Given the description of an element on the screen output the (x, y) to click on. 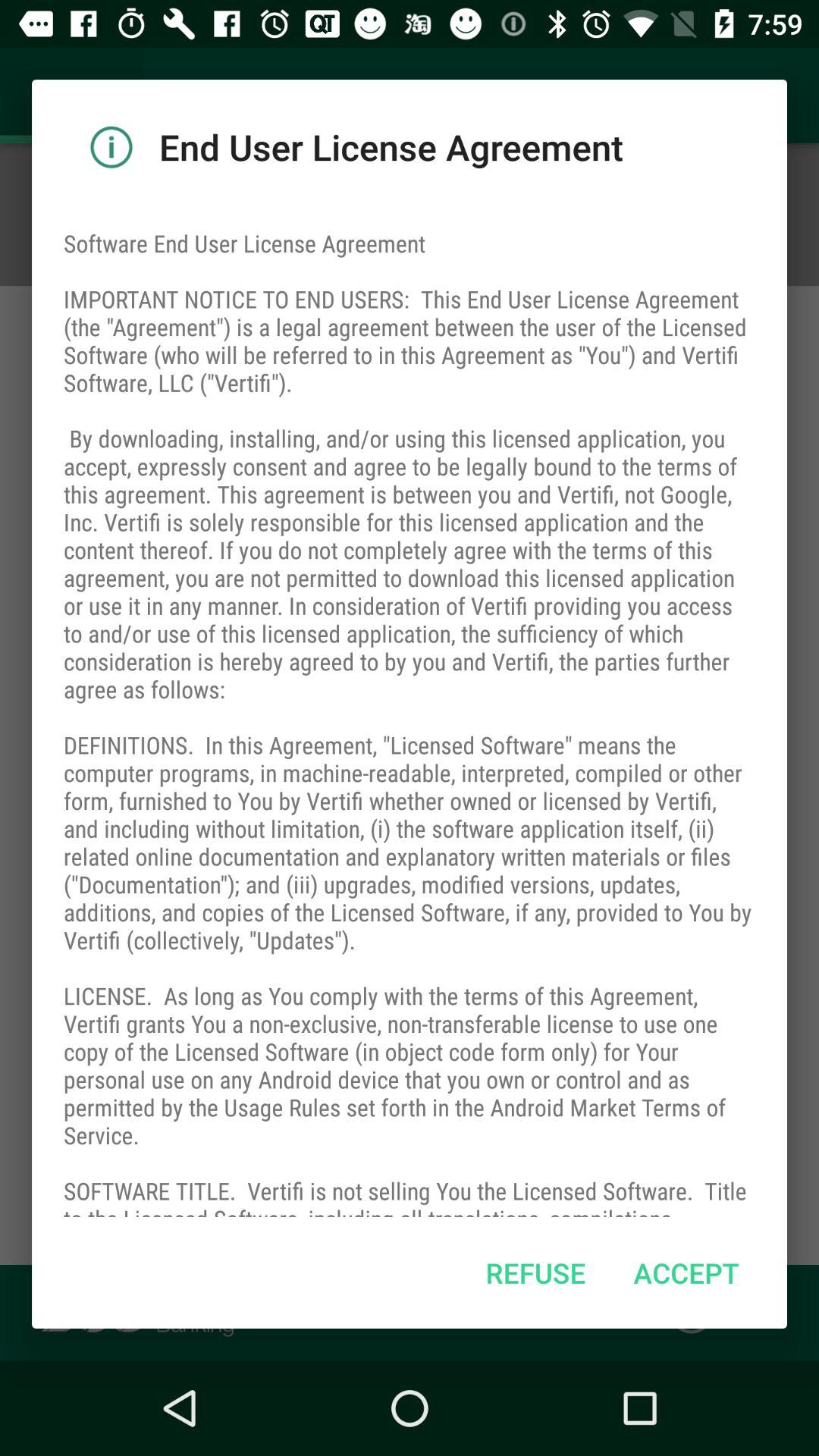
choose item below software end user (535, 1272)
